Given the description of an element on the screen output the (x, y) to click on. 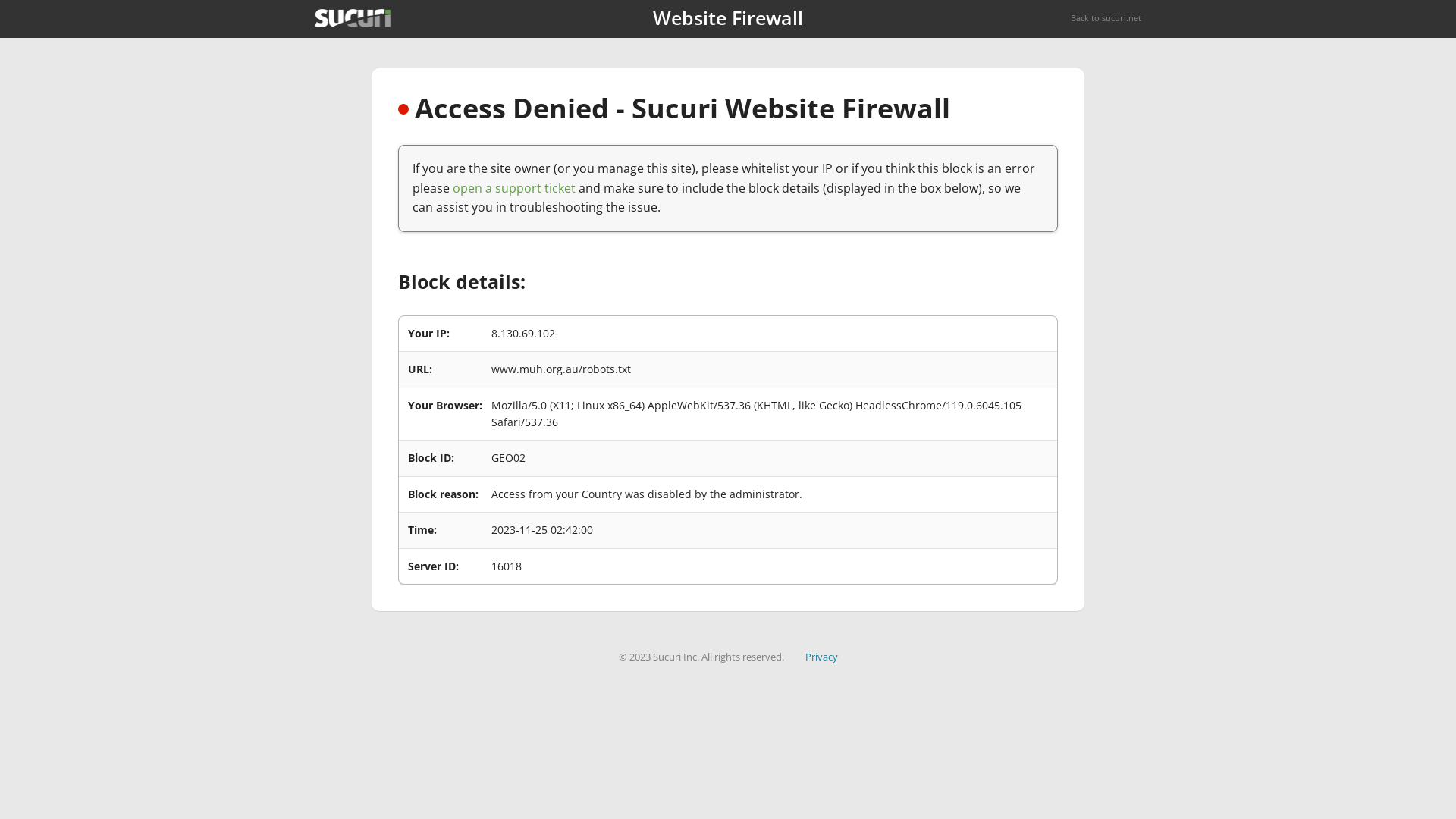
Back to sucuri.net Element type: text (1105, 18)
open a support ticket Element type: text (513, 187)
Privacy Element type: text (821, 656)
